Given the description of an element on the screen output the (x, y) to click on. 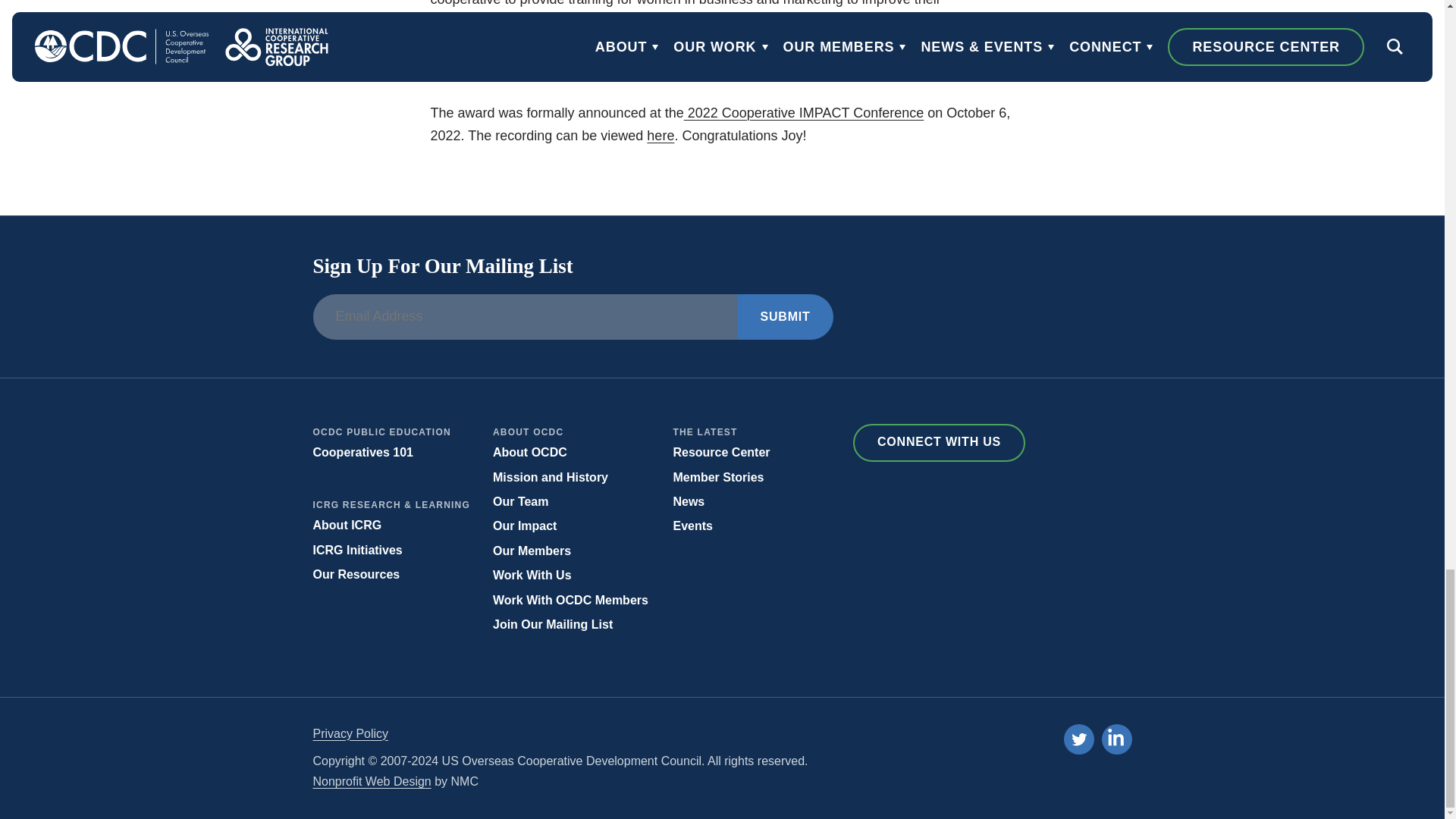
Submit (784, 316)
2022 Cooperative IMPACT Conference (804, 112)
linkedin (1116, 739)
twitter (1078, 739)
